Given the description of an element on the screen output the (x, y) to click on. 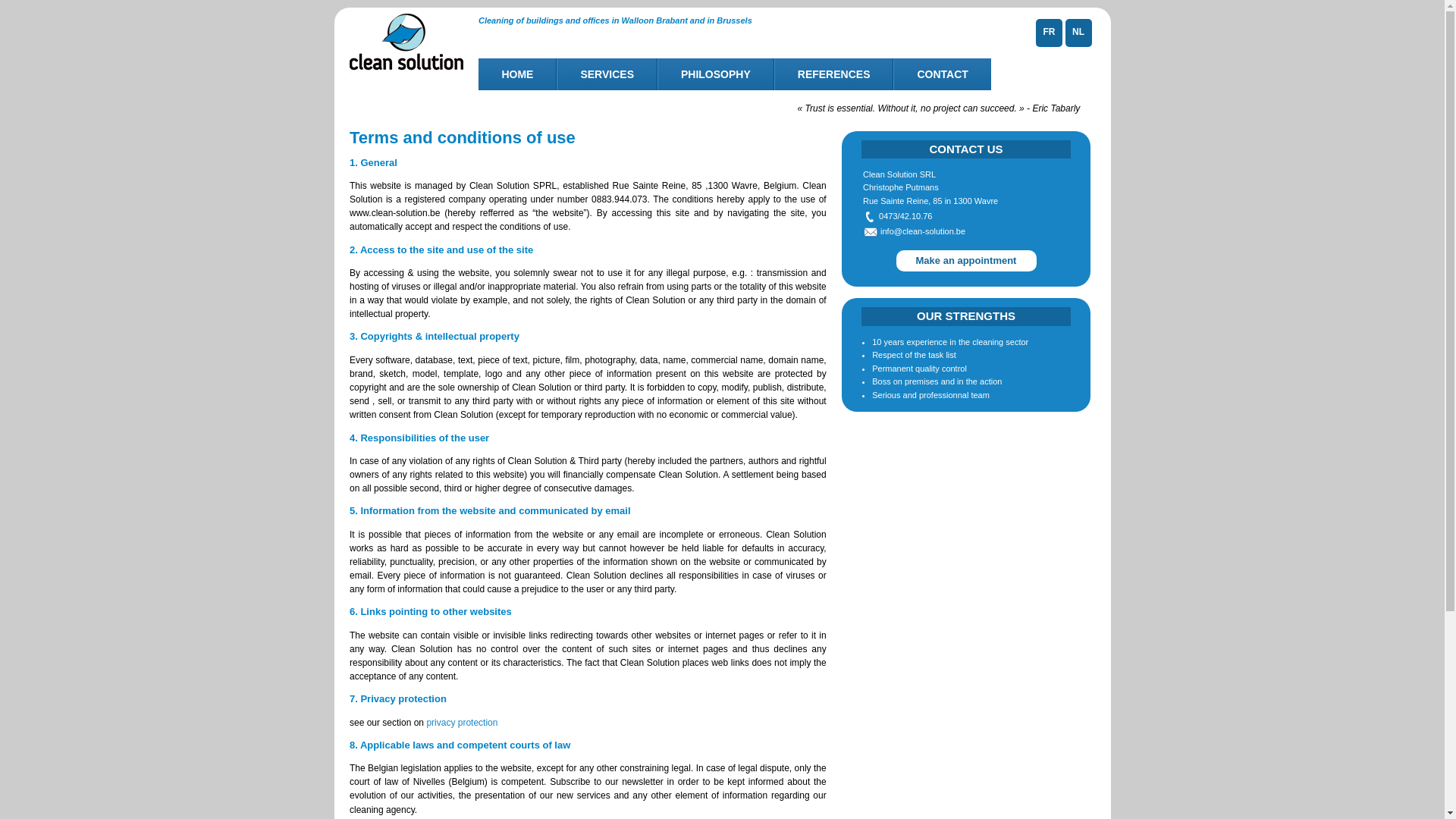
CONTACT Element type: text (941, 74)
HOME Element type: text (517, 74)
SERVICES Element type: text (606, 74)
REFERENCES Element type: text (834, 74)
PHILOSOPHY Element type: text (715, 74)
NL Element type: text (1077, 31)
privacy protection Element type: text (461, 722)
Make an appointment Element type: text (965, 260)
FR Element type: text (1048, 31)
